Given the description of an element on the screen output the (x, y) to click on. 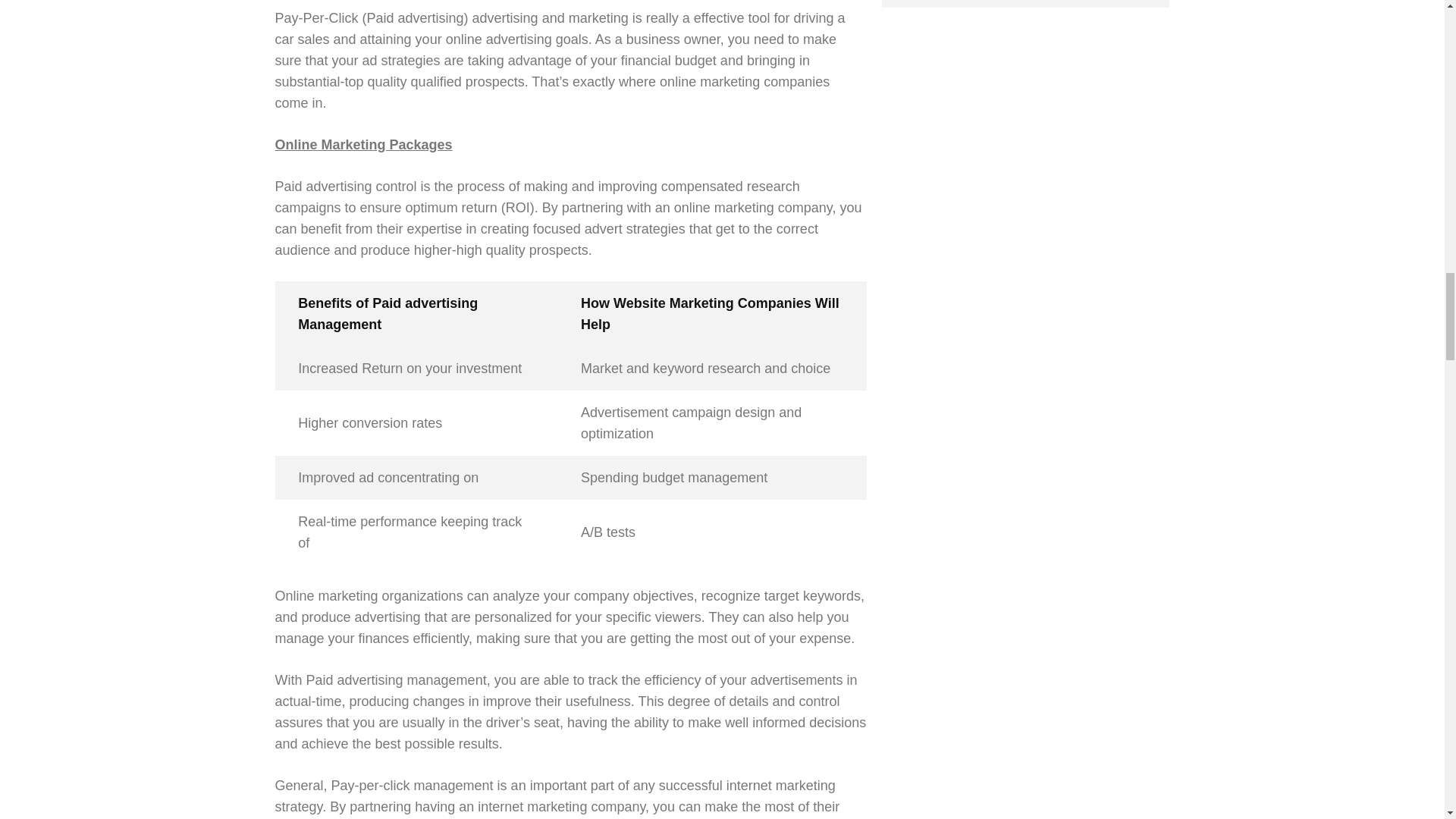
Online Marketing Packages (363, 144)
